Given the description of an element on the screen output the (x, y) to click on. 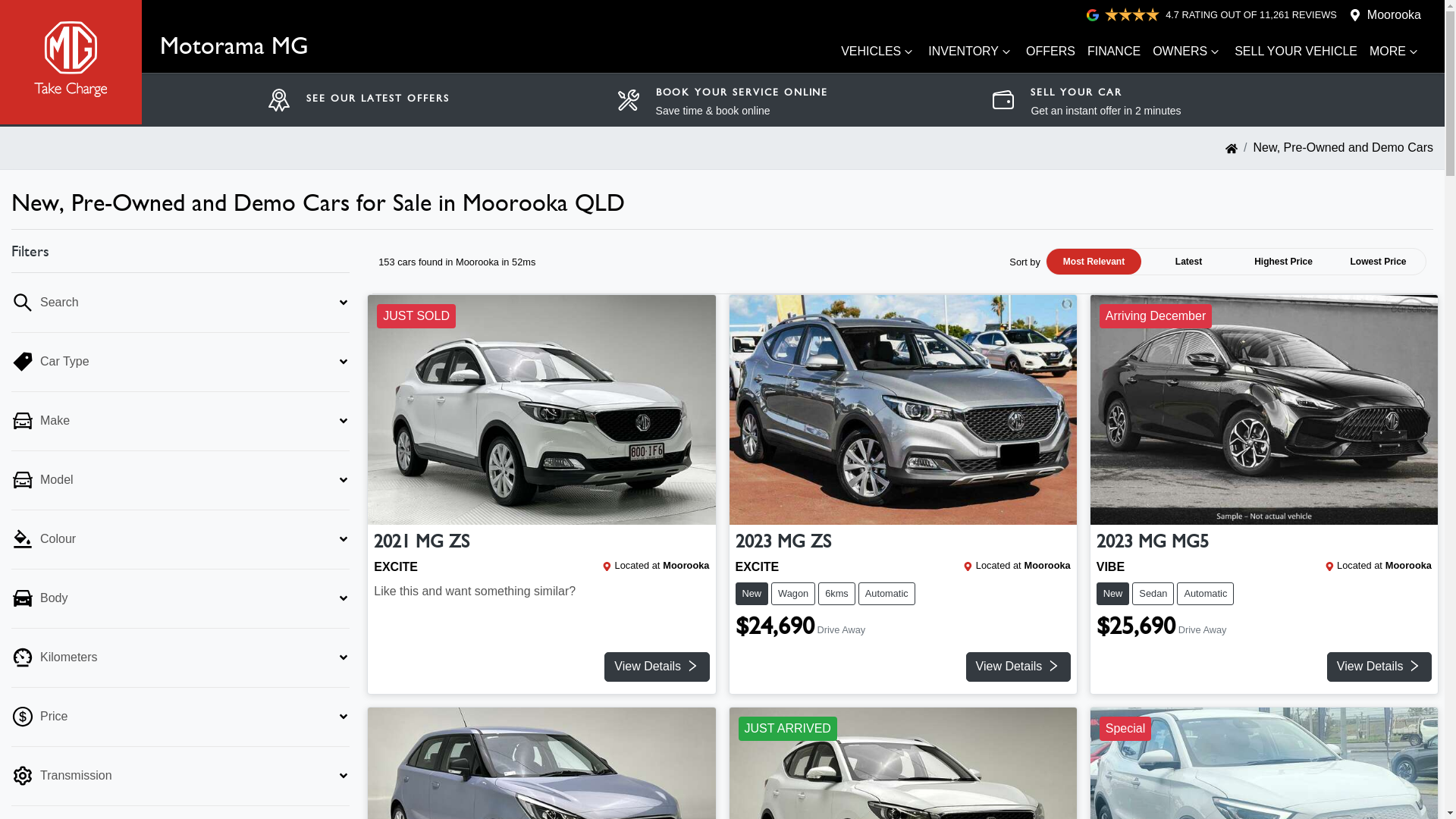
INVENTORY Element type: text (970, 51)
OWNERS Element type: text (1187, 51)
SEE OUR LATEST OFFERS Element type: text (377, 100)
Price Element type: text (180, 716)
FINANCE Element type: text (1113, 51)
Transmission Element type: text (180, 776)
View Details Element type: text (1018, 666)
View Details Element type: text (656, 666)
Kilometers Element type: text (180, 657)
Model Element type: text (180, 480)
SELL YOUR VEHICLE Element type: text (1295, 51)
Moorooka Element type: text (1394, 14)
Car Type Element type: text (180, 362)
VEHICLES Element type: text (878, 51)
BOOK YOUR SERVICE ONLINE
Save time & book online Element type: text (741, 100)
JUST SOLD Element type: text (541, 409)
Search Element type: text (180, 302)
OFFERS Element type: text (1050, 51)
Make Element type: text (180, 421)
SELL YOUR CAR
Get an instant offer in 2 minutes Element type: text (1105, 100)
View Details Element type: text (1379, 666)
Colour Element type: text (180, 539)
MORE Element type: text (1395, 51)
Arriving December Element type: text (1263, 409)
Body Element type: text (180, 598)
